Given the description of an element on the screen output the (x, y) to click on. 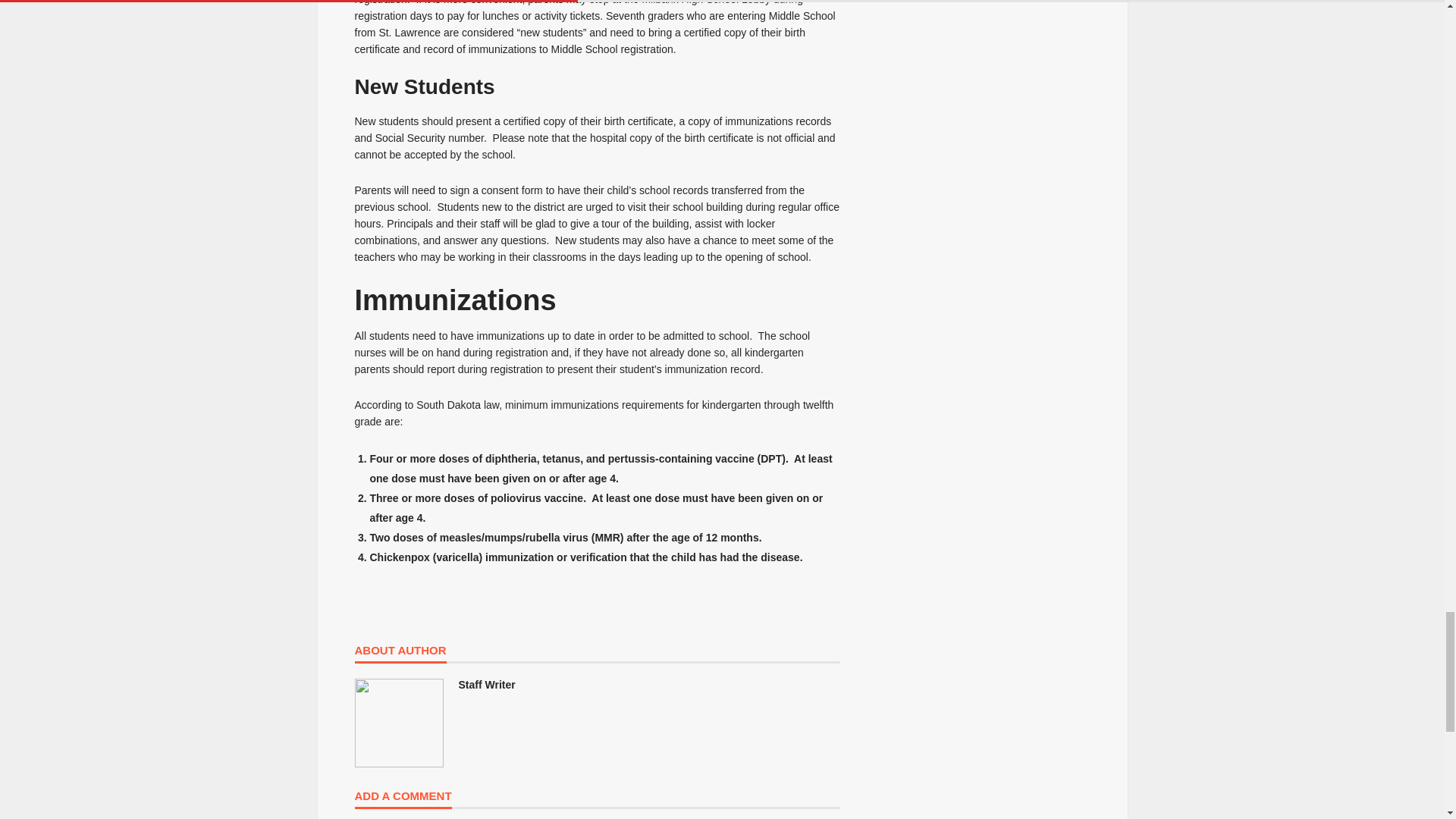
ADD A COMMENT (403, 799)
ABOUT AUTHOR (400, 653)
